Given the description of an element on the screen output the (x, y) to click on. 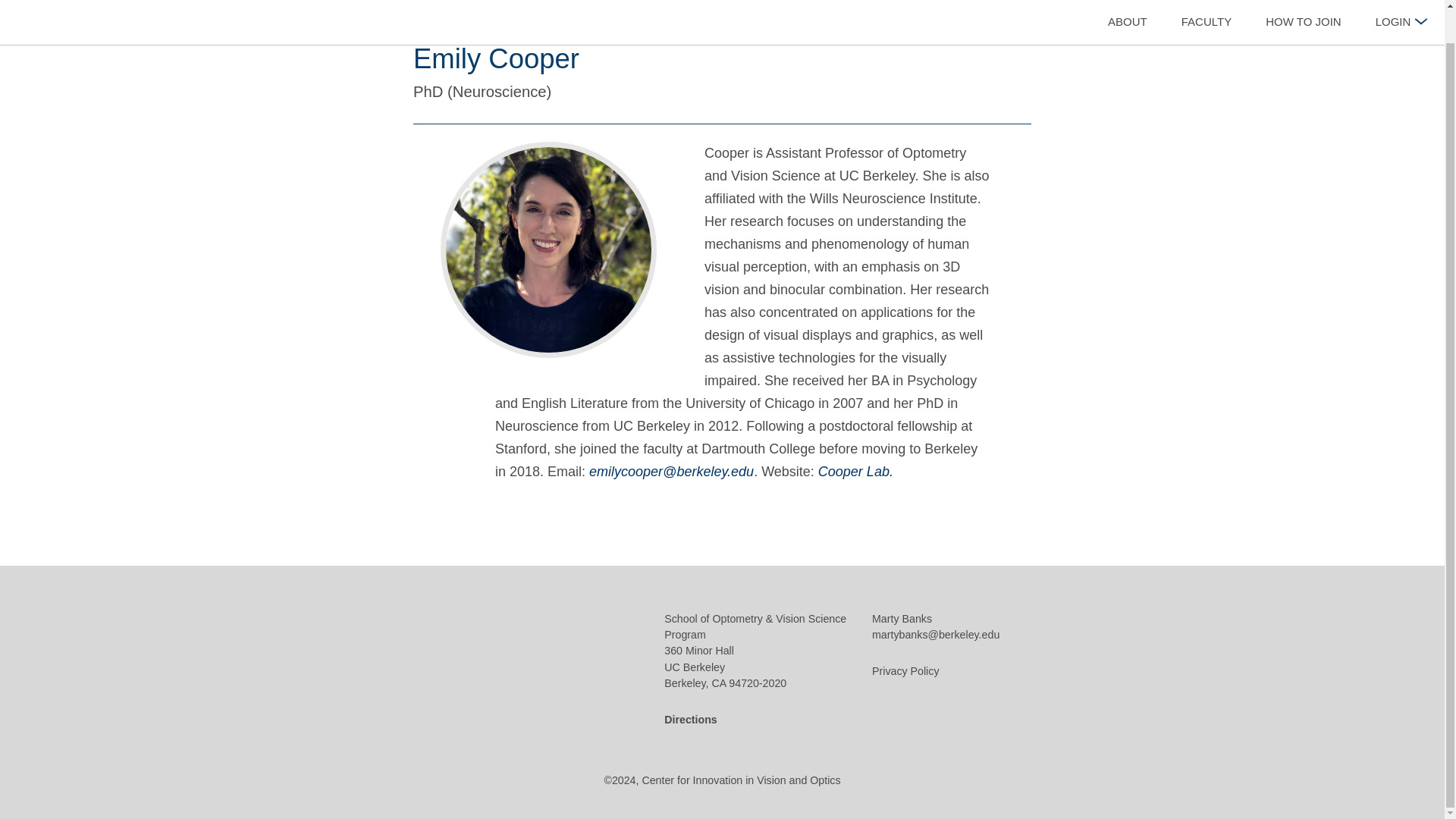
CIVO CENTER FOR INNOVATION IN VISION AND OPTICS (551, 674)
link to map (690, 720)
Privacy Policy (905, 671)
Directions (690, 720)
CIVO CENTER FOR INNOVATION IN VISION AND OPTICS (124, 3)
Cooper Lab. (855, 472)
CIVO CENTER FOR INNOVATION IN VISION AND OPTICS (124, 2)
HOW TO JOIN (1303, 6)
CIVO CENTER FOR INNOVATION IN VISION AND OPTICS (551, 671)
ABOUT (1127, 6)
